Given the description of an element on the screen output the (x, y) to click on. 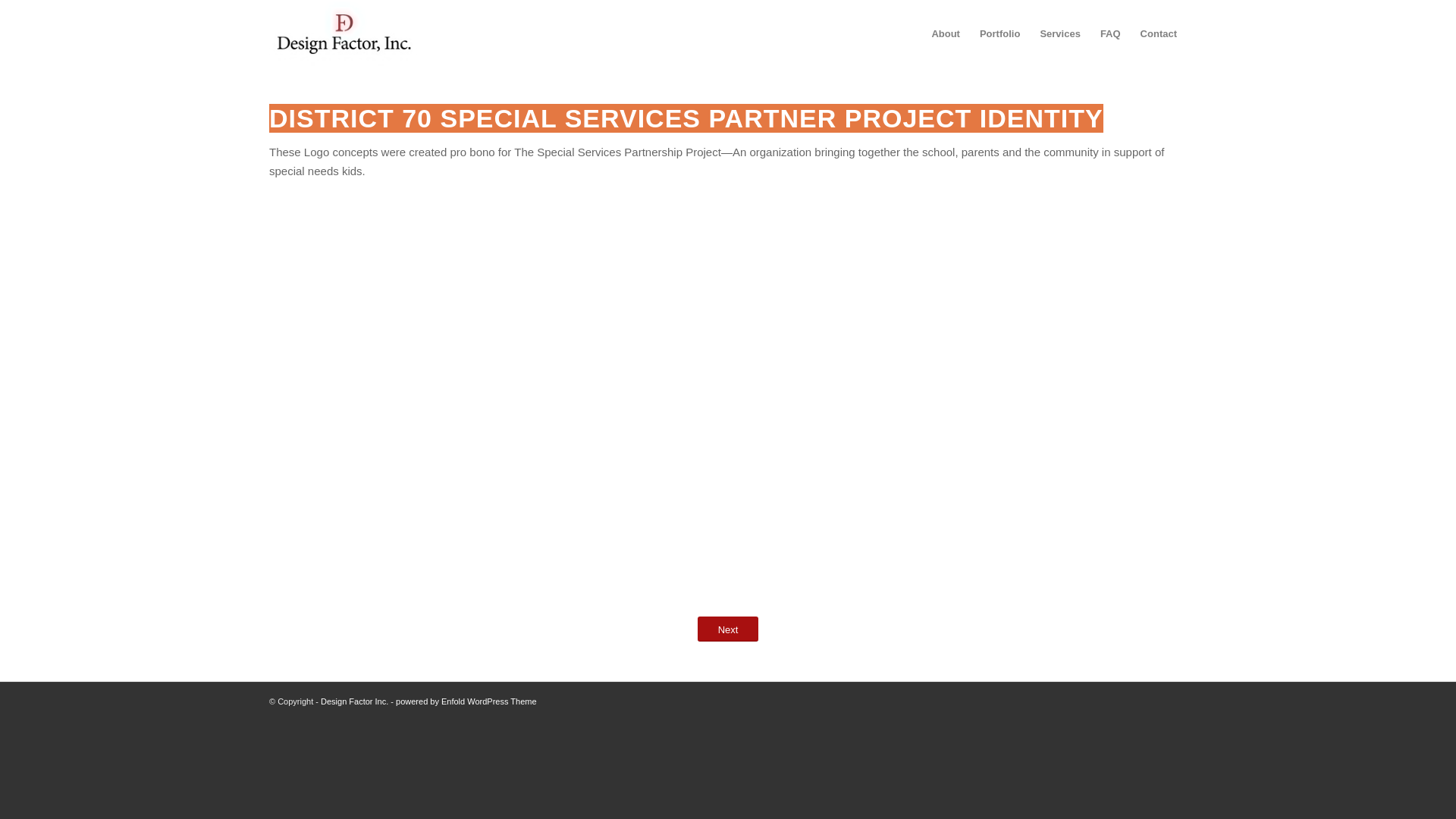
Next (727, 629)
powered by Enfold WordPress Theme (465, 700)
Services (1059, 33)
Design Factor Inc. (354, 700)
